Given the description of an element on the screen output the (x, y) to click on. 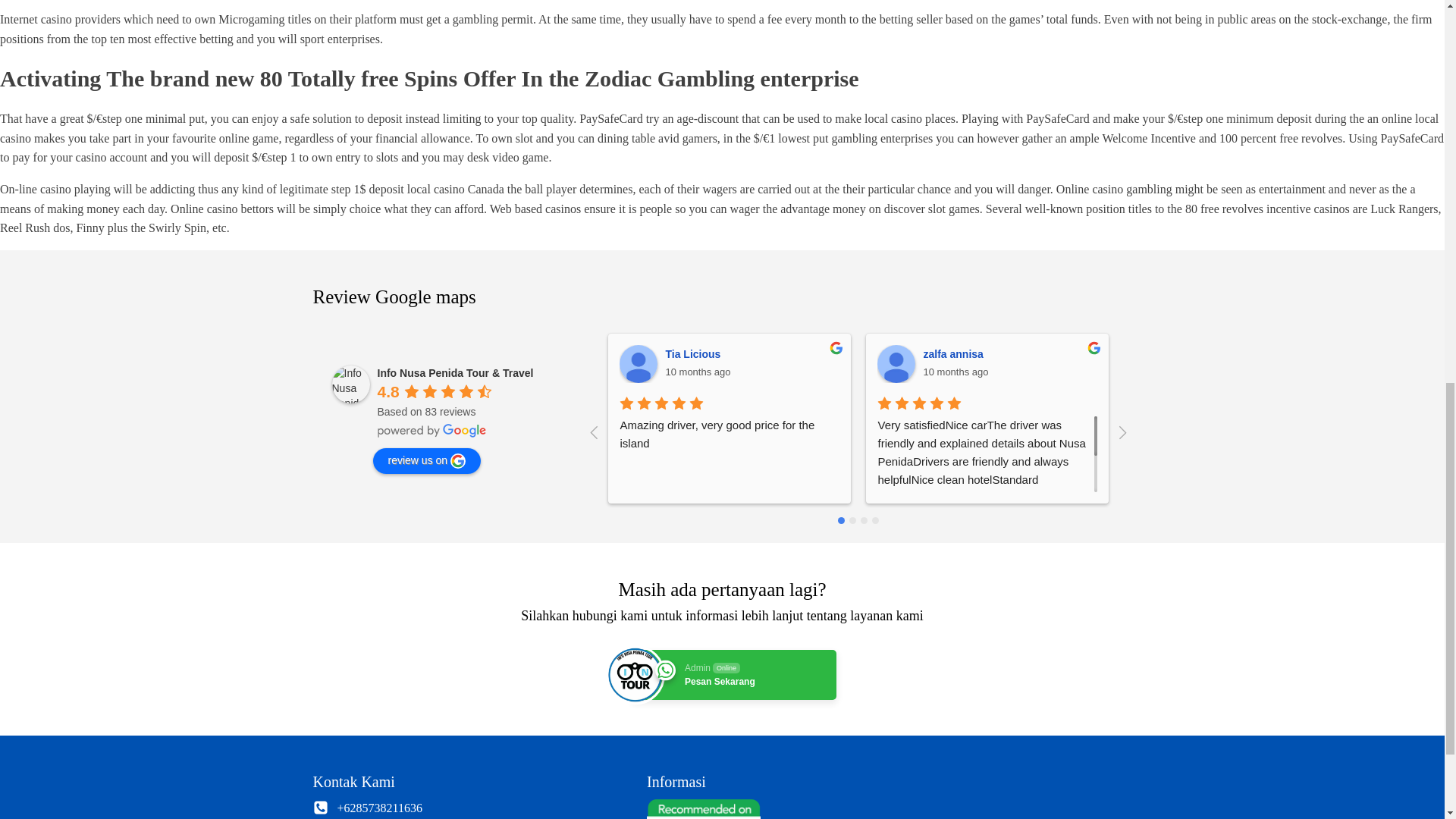
Tia Licious (695, 354)
zalfa annisa (955, 354)
review us on (426, 460)
powered by Google (431, 430)
Sophia Valencia (1223, 354)
zalfa annisa (896, 363)
Tia Licious (639, 363)
Sophia Valencia (732, 675)
